Given the description of an element on the screen output the (x, y) to click on. 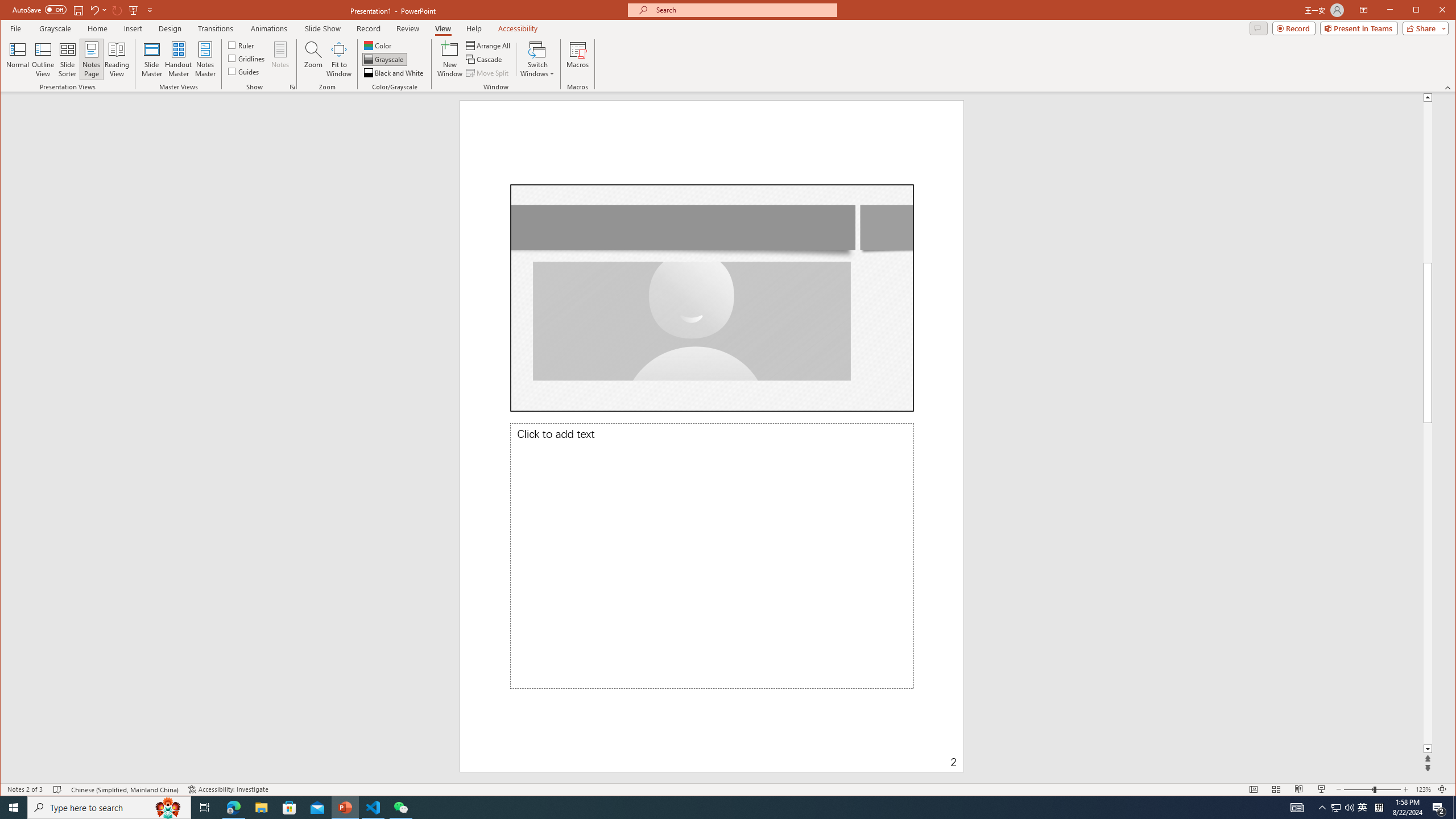
Arrange All (488, 45)
Ruler (241, 44)
Notes (279, 59)
Zoom... (312, 59)
